Given the description of an element on the screen output the (x, y) to click on. 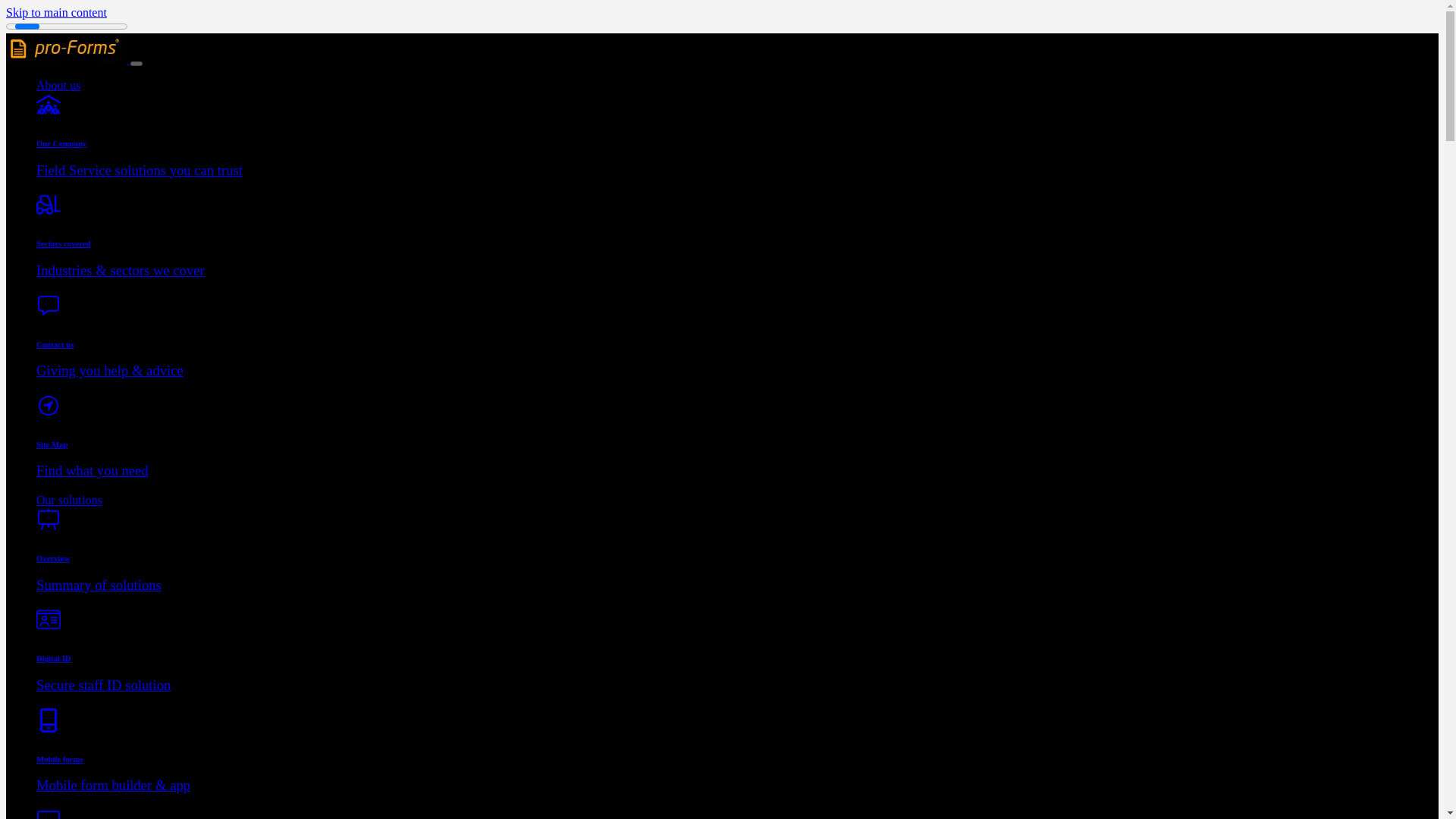
Our solutions (68, 499)
Click for pro-Forms Homepage (66, 48)
About us (58, 84)
